Given the description of an element on the screen output the (x, y) to click on. 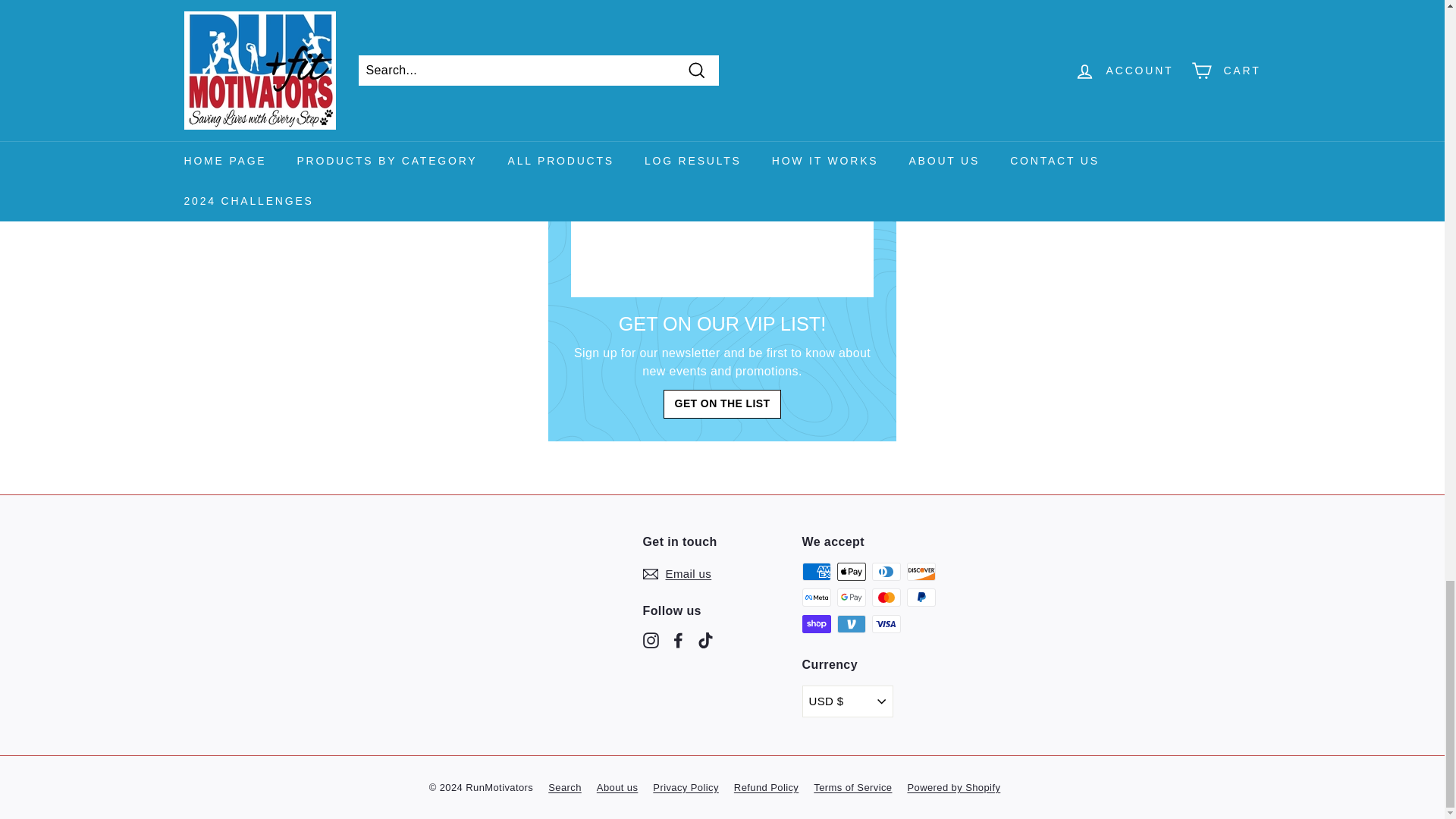
Discover (921, 571)
RunMotivators on Instagram (651, 640)
Apple Pay (851, 571)
RunMotivators on TikTok (705, 640)
American Express (816, 571)
Diners Club (886, 571)
RunMotivators on Facebook (677, 640)
